Given the description of an element on the screen output the (x, y) to click on. 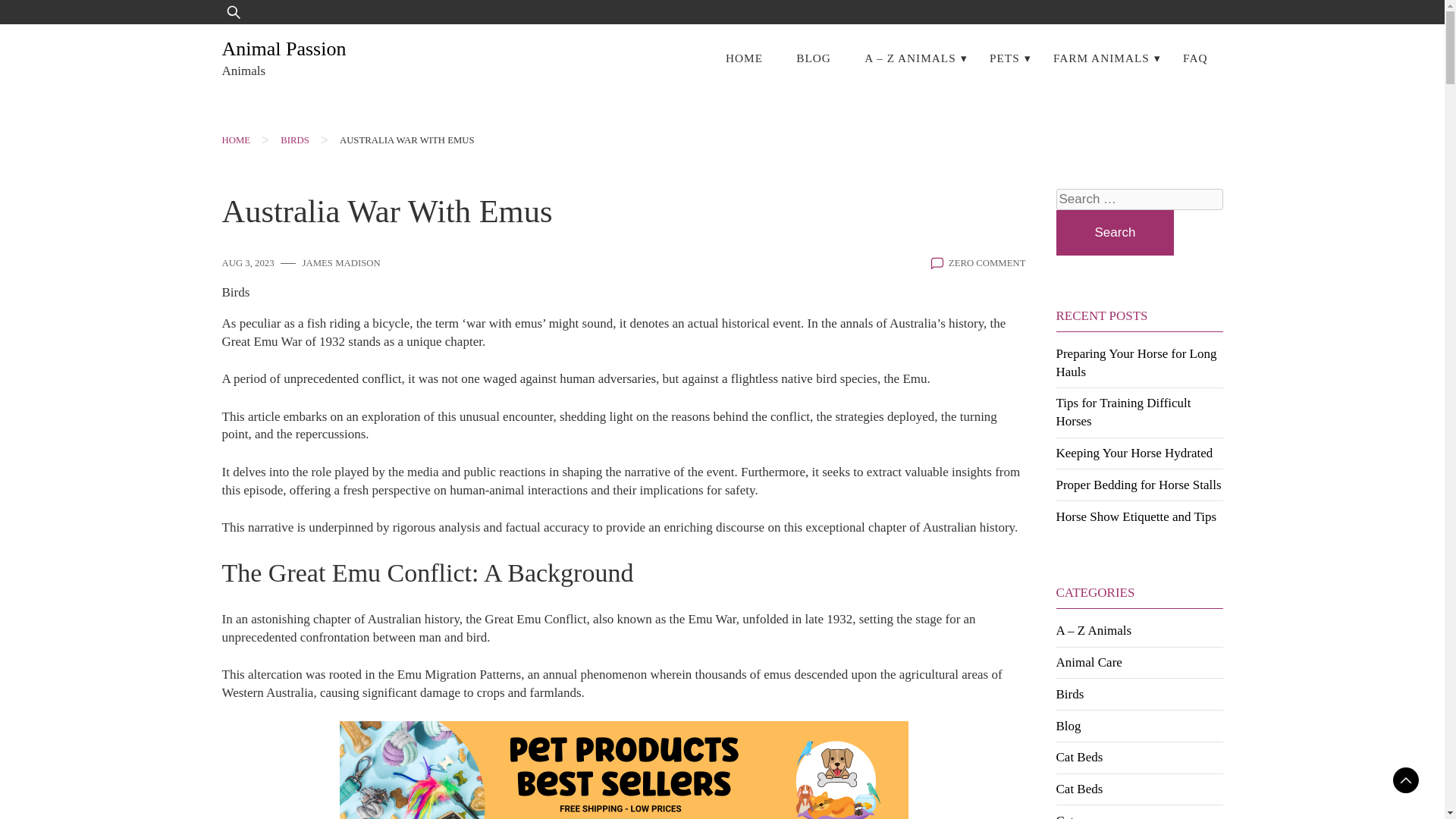
Animal Passion (283, 48)
JAMES MADISON (341, 264)
FAQ (1195, 58)
ZERO COMMENT (987, 264)
Home (235, 140)
Search (1114, 232)
HOME (235, 140)
HOME (743, 58)
Search (1114, 232)
PETS (1004, 58)
BLOG (812, 58)
Australia War With Emus (406, 140)
BIRDS (294, 140)
Birds (234, 292)
Search (58, 22)
